Given the description of an element on the screen output the (x, y) to click on. 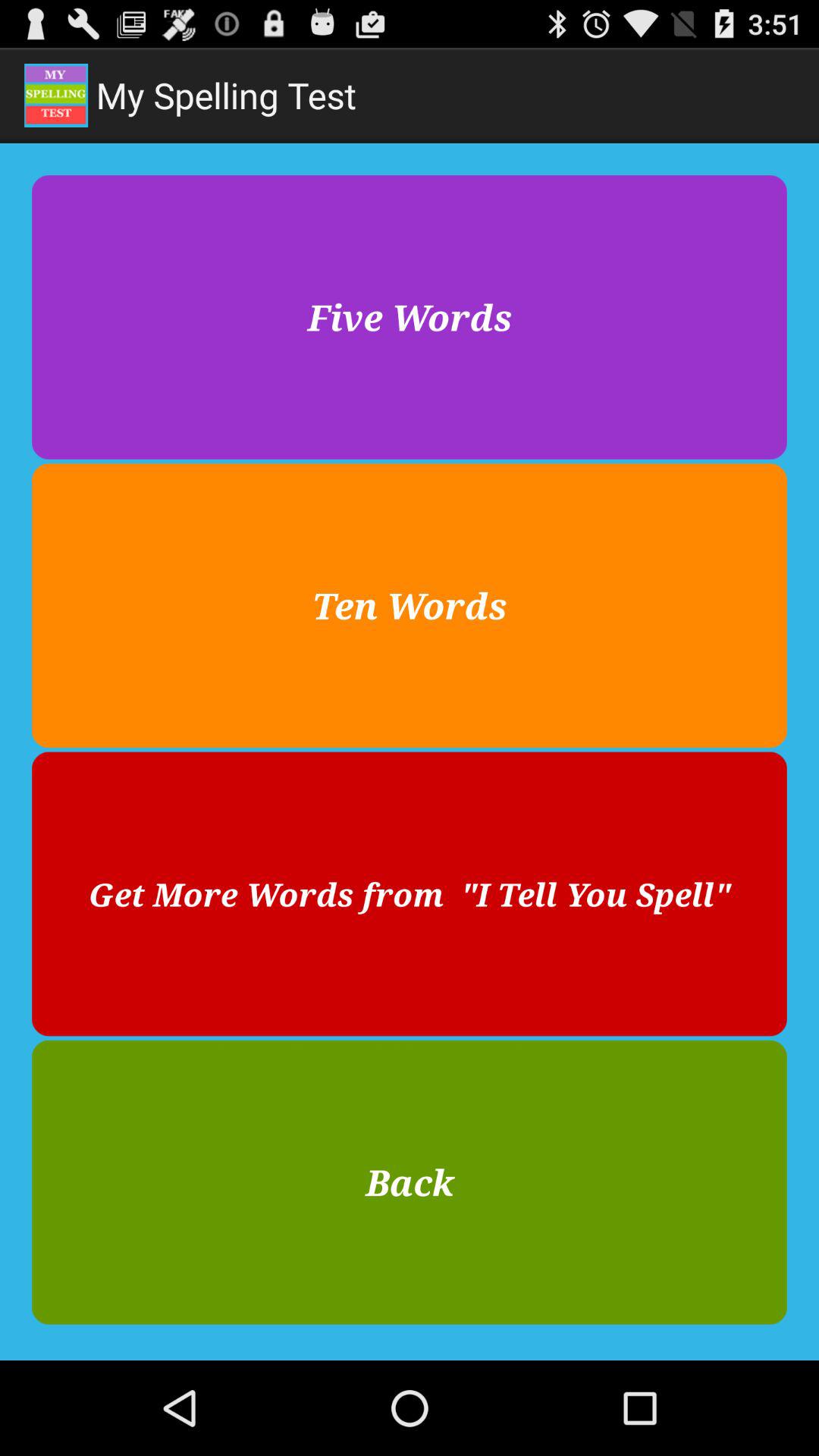
swipe to the get more words button (409, 893)
